Given the description of an element on the screen output the (x, y) to click on. 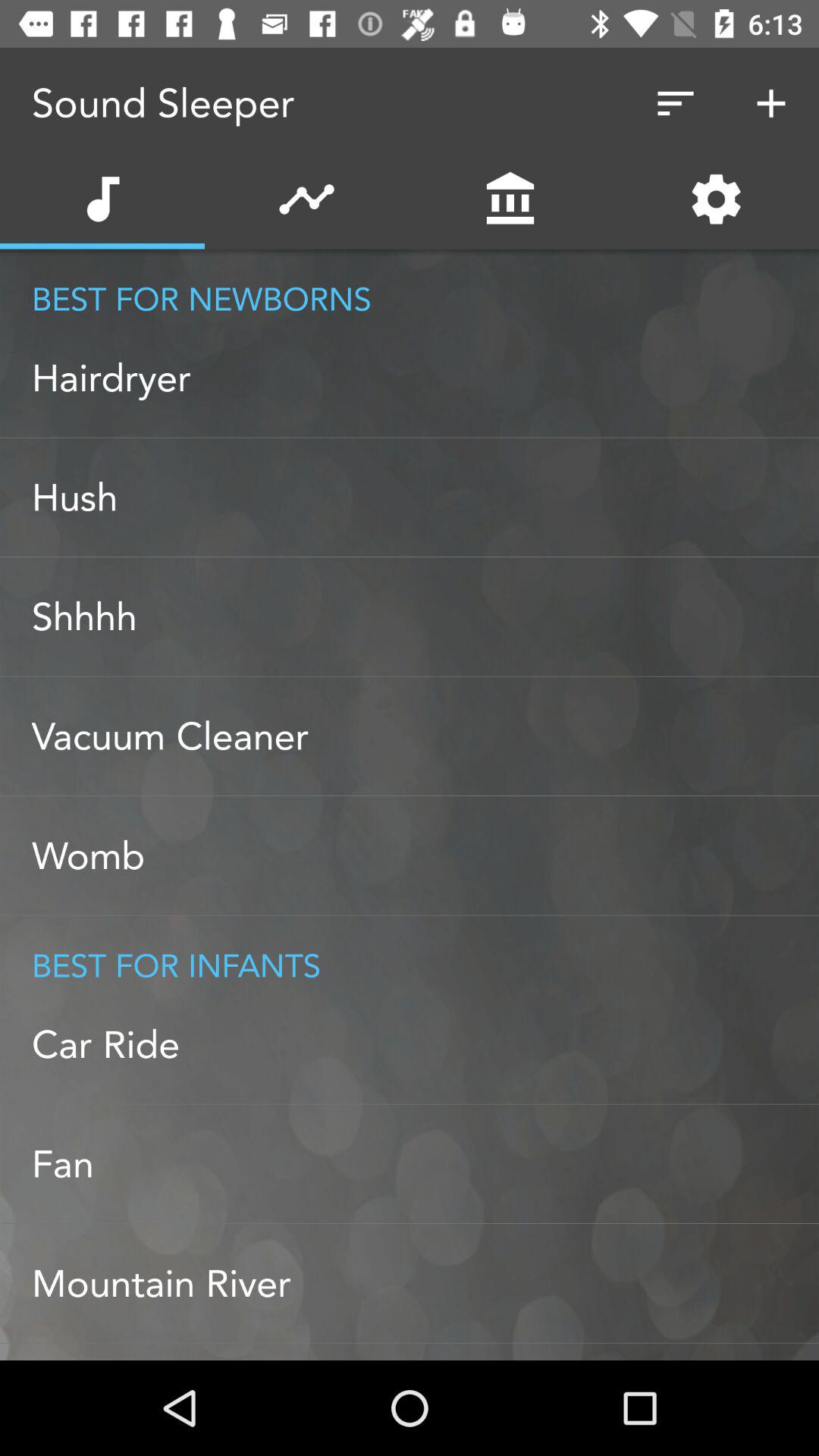
launch the icon below best for infants icon (425, 1044)
